Given the description of an element on the screen output the (x, y) to click on. 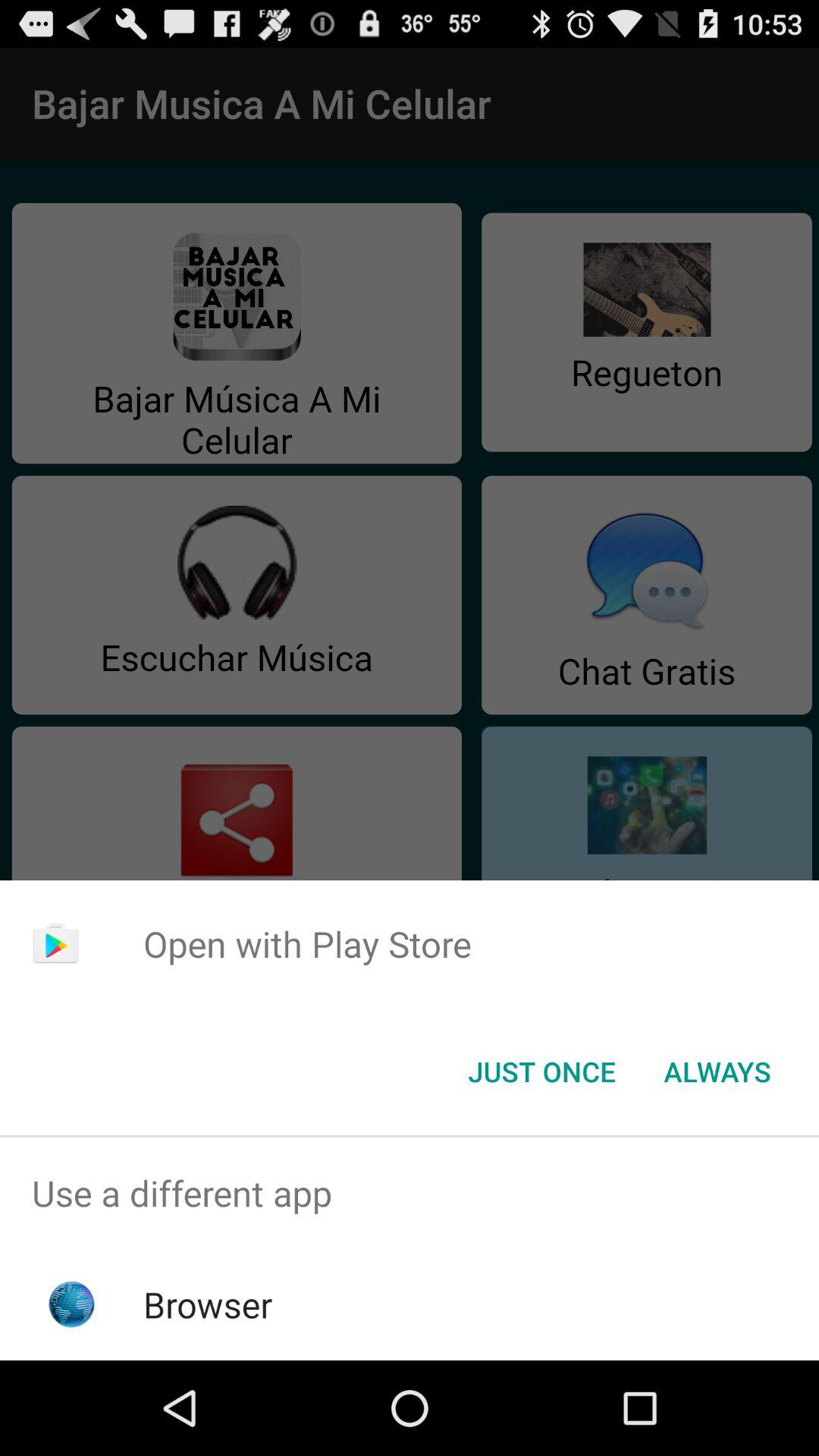
press the browser (207, 1304)
